Given the description of an element on the screen output the (x, y) to click on. 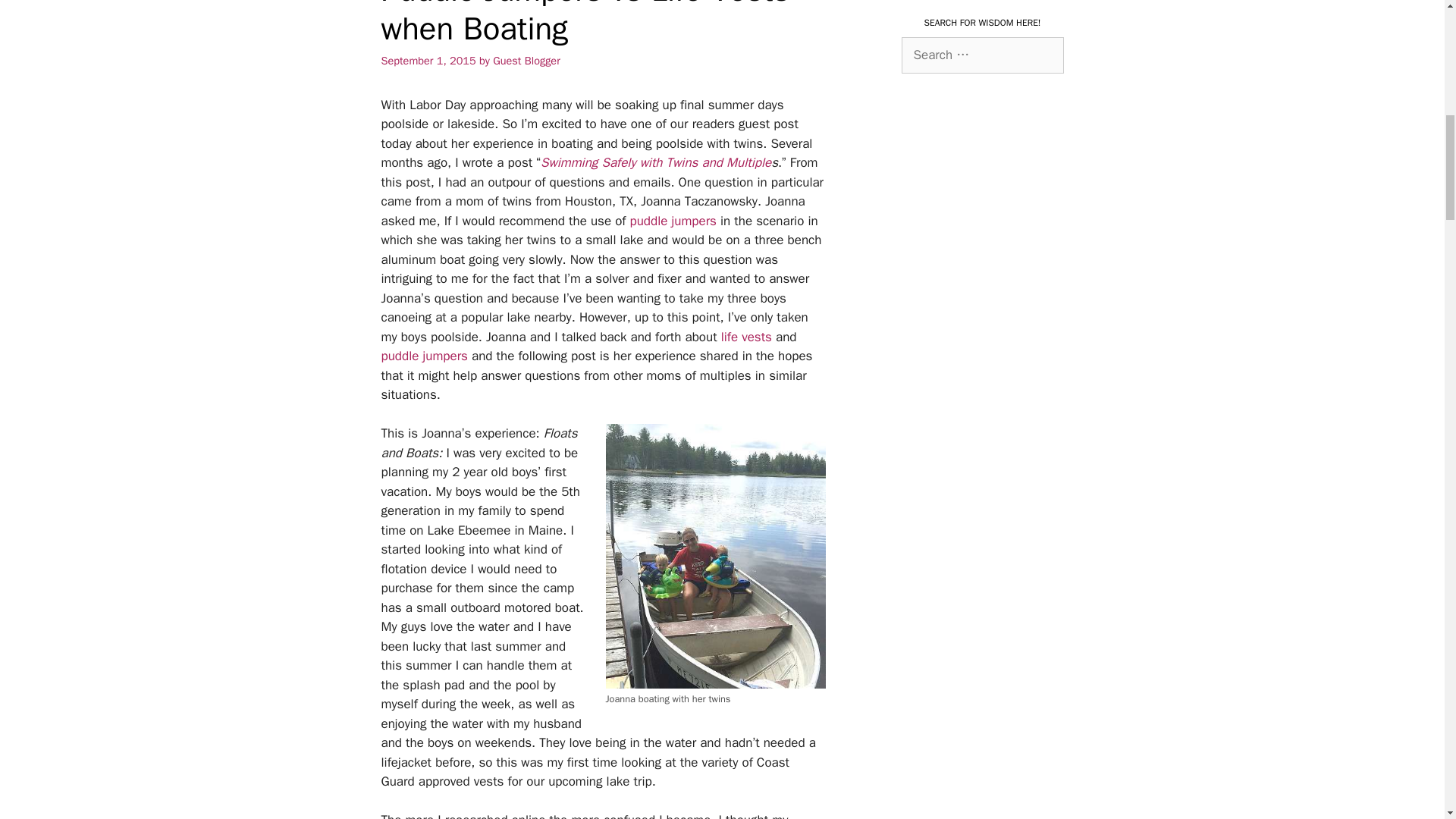
Swimming Safely with Twins and Multiples (655, 162)
View all posts by Guest Blogger (526, 60)
Life Vests Amazon (745, 336)
Guest Blogger (526, 60)
puddle Jumpers on Amazon (425, 355)
puddle jumpers on Amazon (673, 220)
